Given the description of an element on the screen output the (x, y) to click on. 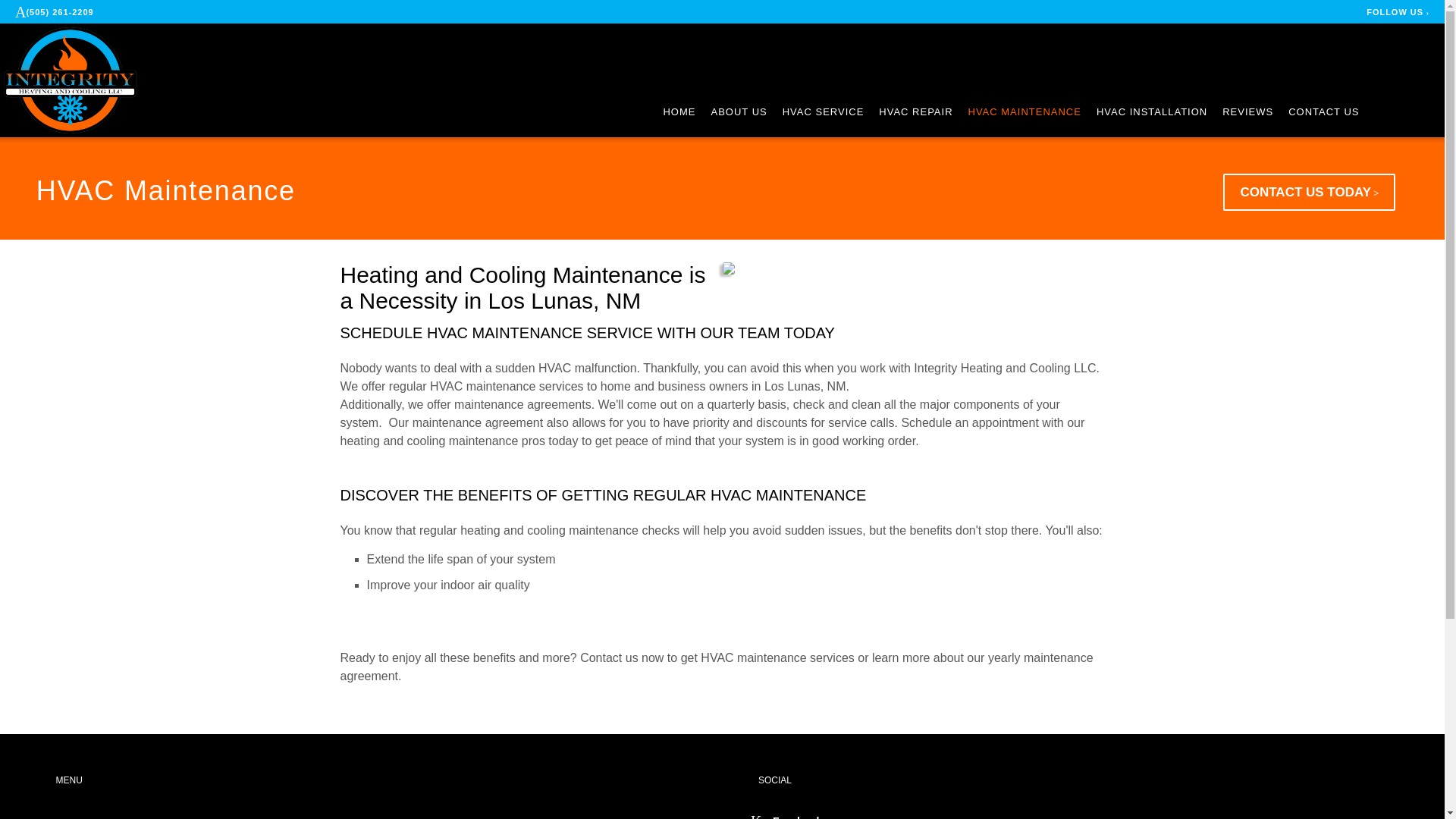
CONTACT US (1323, 112)
HVAC REPAIR (915, 112)
HVAC INSTALLATION (1151, 112)
ABOUT US (738, 112)
HOME (678, 112)
CONTACT US TODAY (1308, 192)
Facebook (786, 816)
HVAC SERVICE (823, 112)
HVAC MAINTENANCE (1024, 112)
REVIEWS (1247, 112)
